Given the description of an element on the screen output the (x, y) to click on. 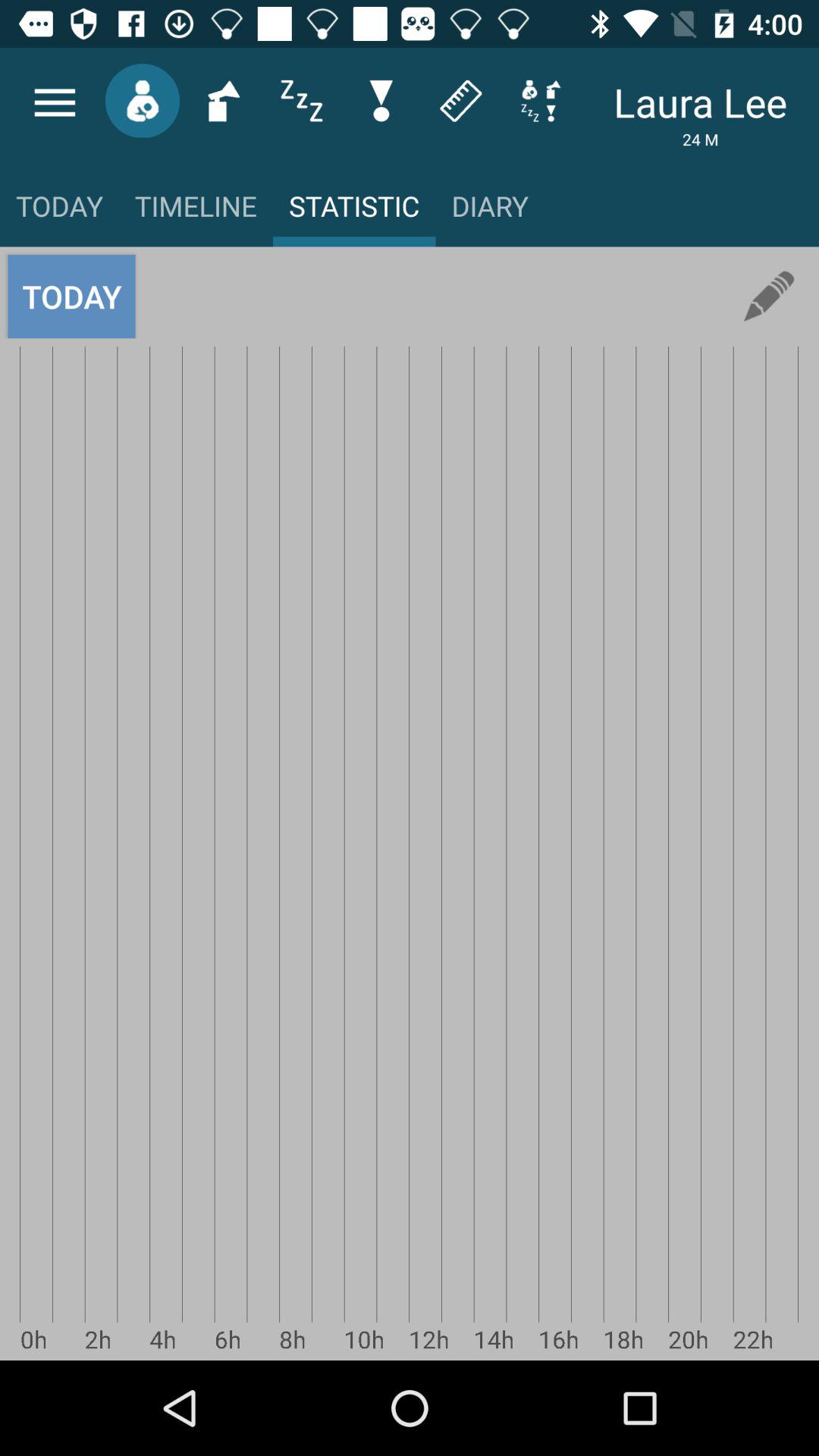
click item to the right of the diary item (769, 296)
